Given the description of an element on the screen output the (x, y) to click on. 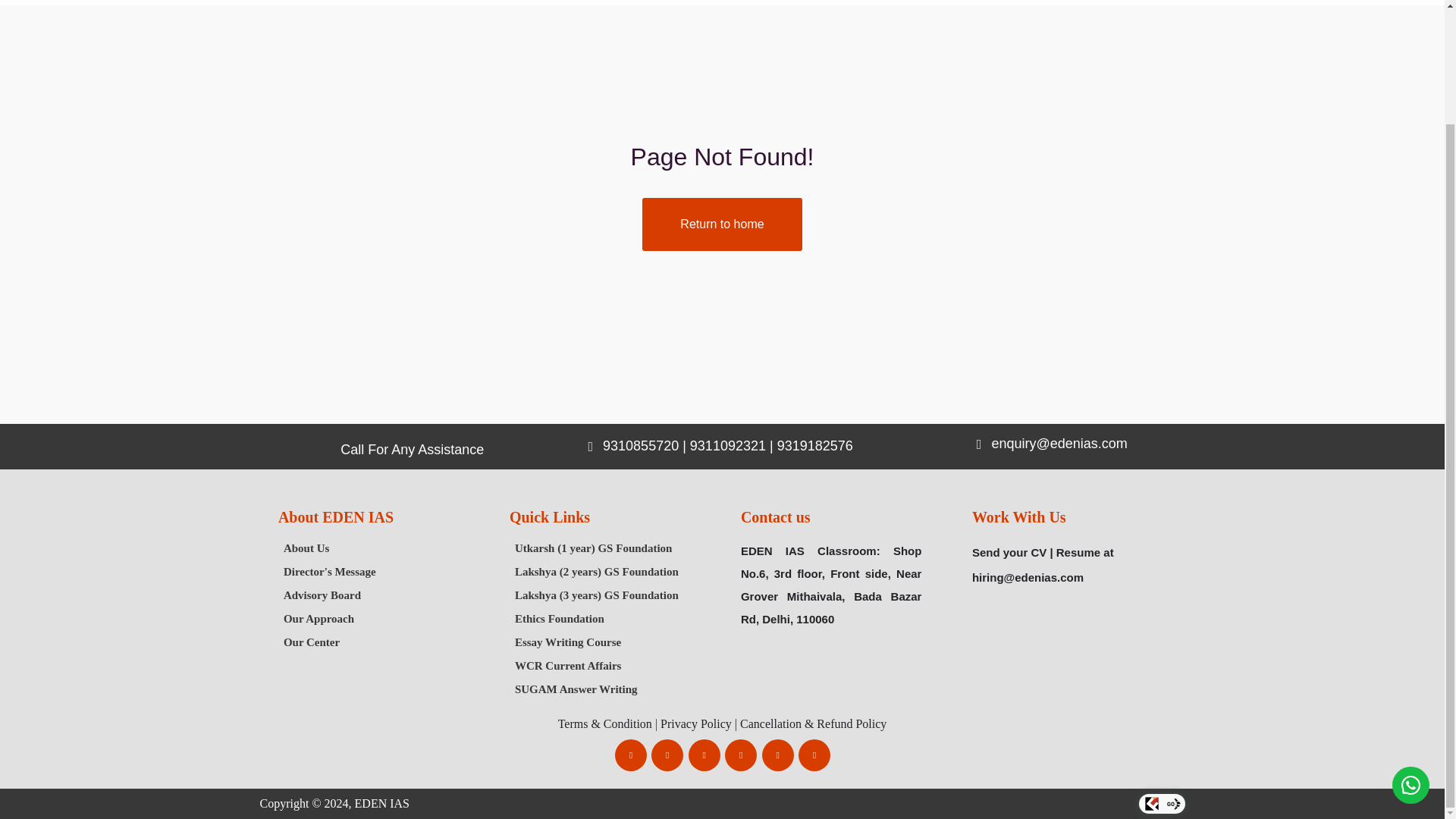
Digital Marketing Platform (1173, 808)
ABOUT US (338, 2)
HOME (259, 2)
Digital Marketing Agency (1151, 808)
COURSES (427, 2)
